Given the description of an element on the screen output the (x, y) to click on. 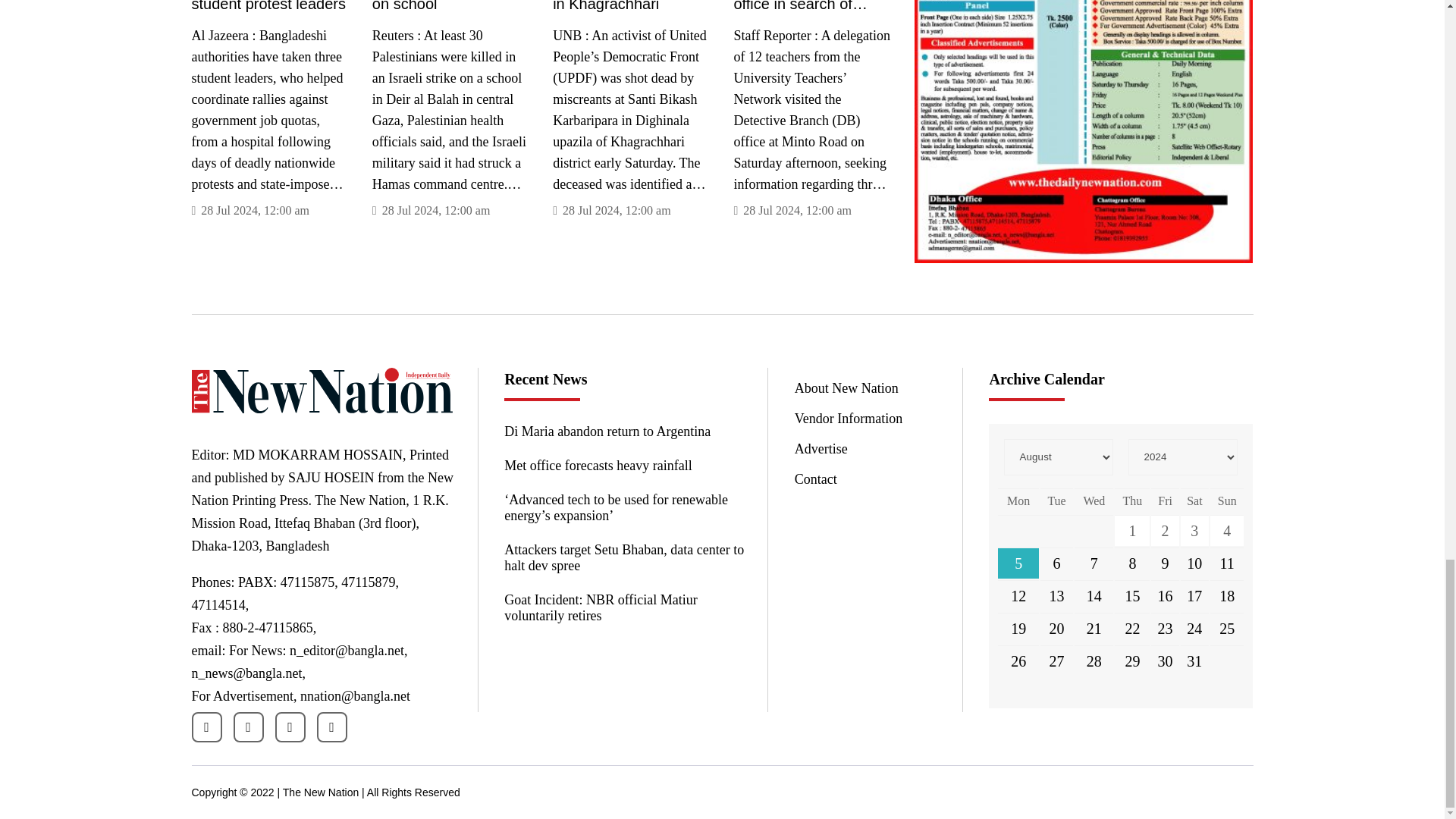
Saturday (1194, 500)
Wednesday (1093, 500)
Met office forecasts heavy rainfall (623, 465)
Friday (1164, 500)
Authorities detain student protest leaders (269, 6)
Attackers target Setu Bhaban, data center to halt dev spree (623, 558)
12 teachers at DB office in search of coordinators (812, 6)
Di Maria abandon return to Argentina (623, 431)
Sunday (1226, 500)
30 killed in Israeli strike on school (450, 6)
Monday (1017, 500)
Thursday (1132, 500)
UPDF man shot dead in Khagrachhari (631, 6)
Goat Incident: NBR official Matiur voluntarily retires (623, 608)
Tuesday (1057, 500)
